Given the description of an element on the screen output the (x, y) to click on. 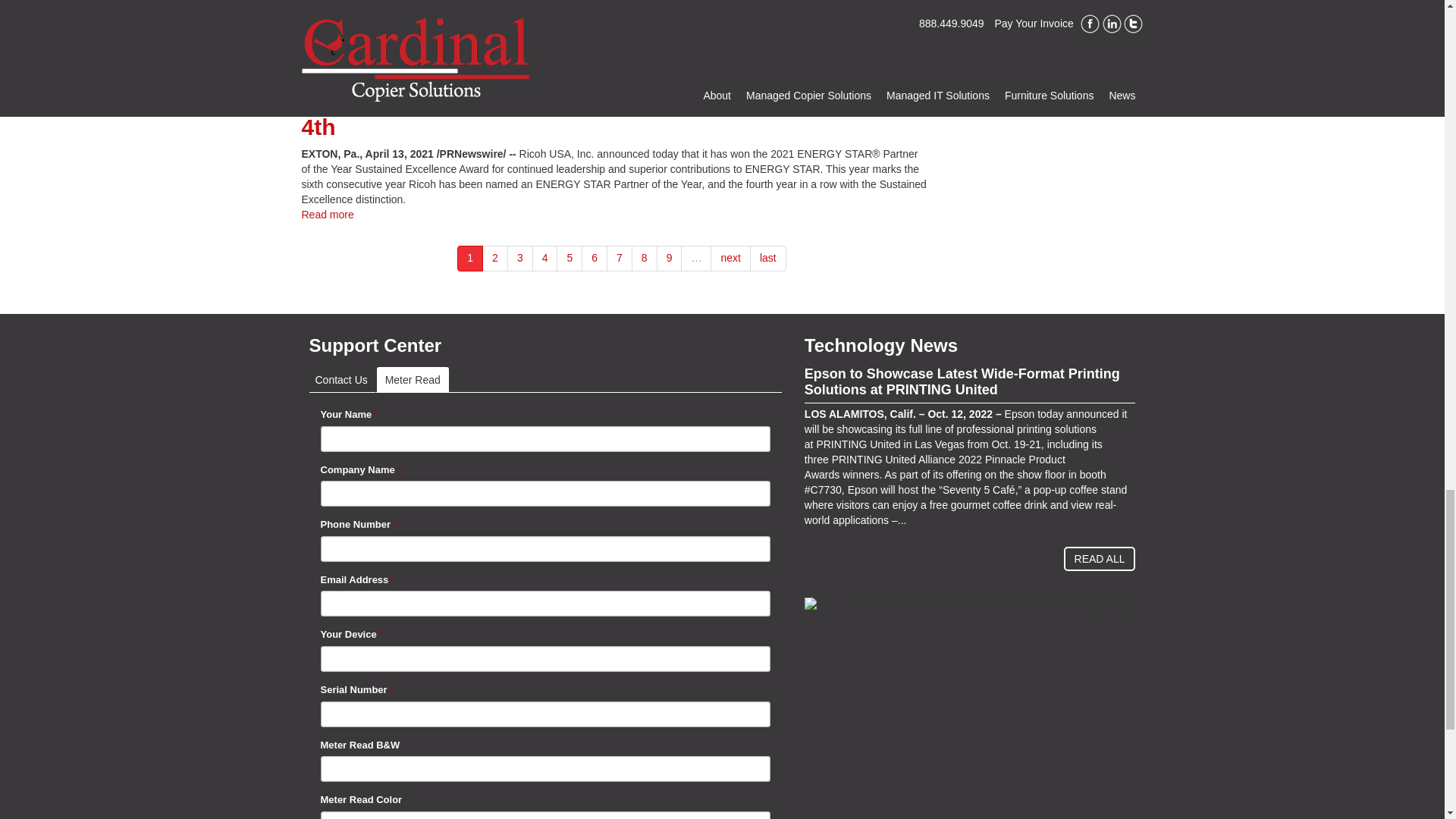
Go to page 6 (593, 258)
Go to page 7 (619, 258)
Go to page 4 (544, 258)
Go to page 8 (644, 258)
Go to page 3 (519, 258)
Go to page 2 (494, 258)
Go to page 5 (569, 258)
